Given the description of an element on the screen output the (x, y) to click on. 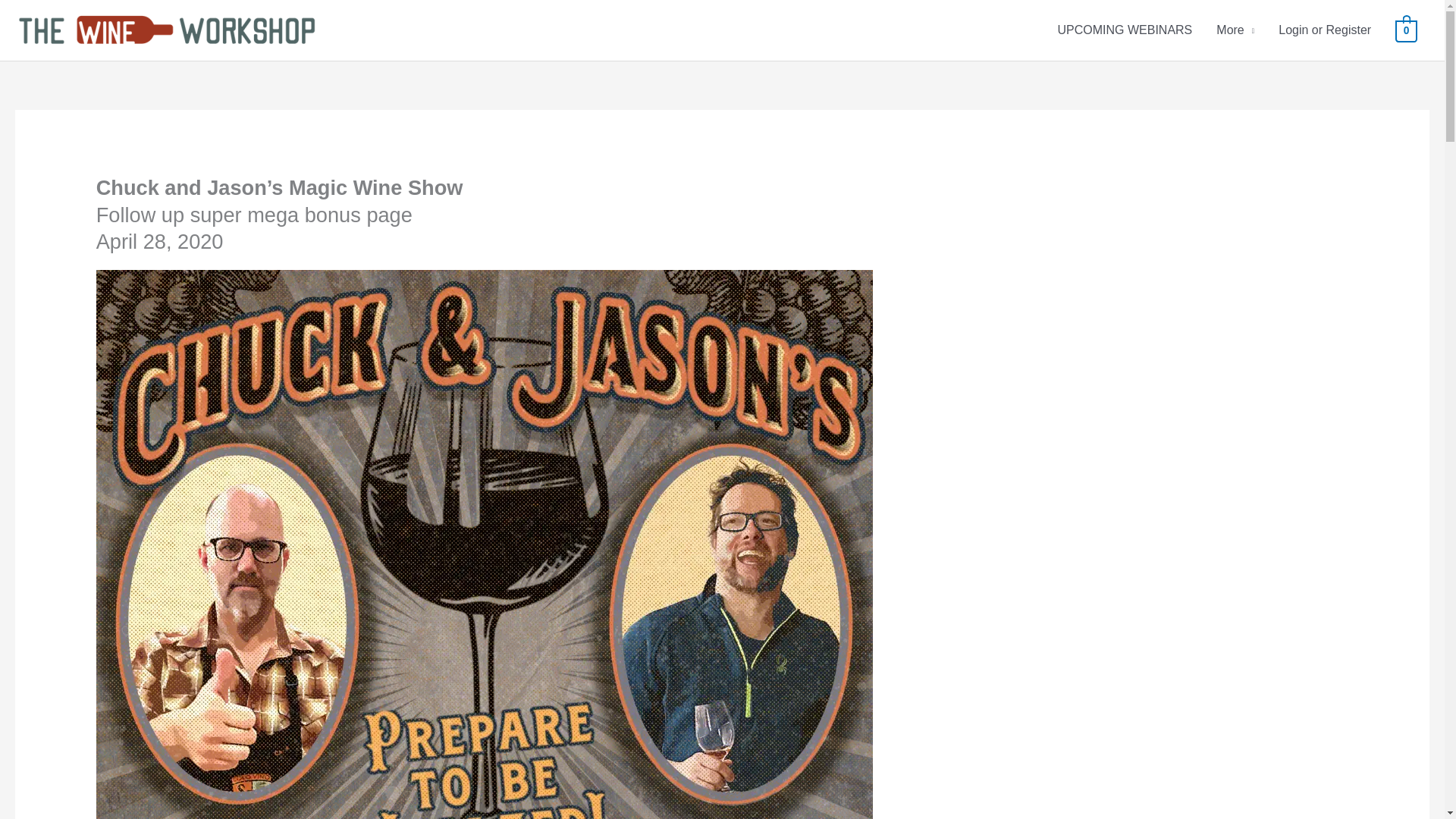
Login or Register (1324, 30)
0 (1405, 29)
UPCOMING WEBINARS (1124, 30)
More (1235, 30)
